Given the description of an element on the screen output the (x, y) to click on. 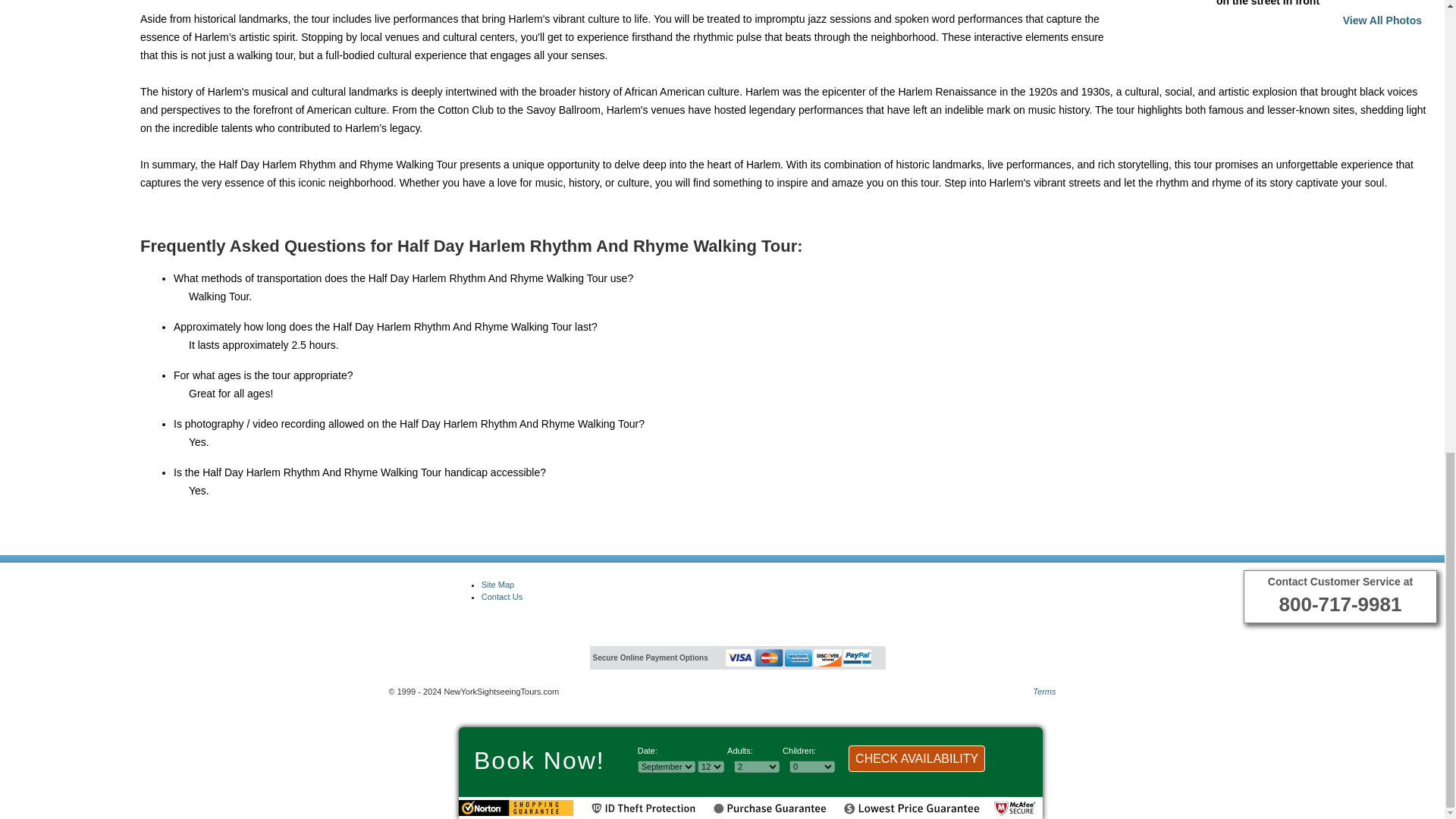
Terms (1043, 691)
View All Photos (1382, 20)
Site Map (497, 583)
Contact Us (501, 596)
